Given the description of an element on the screen output the (x, y) to click on. 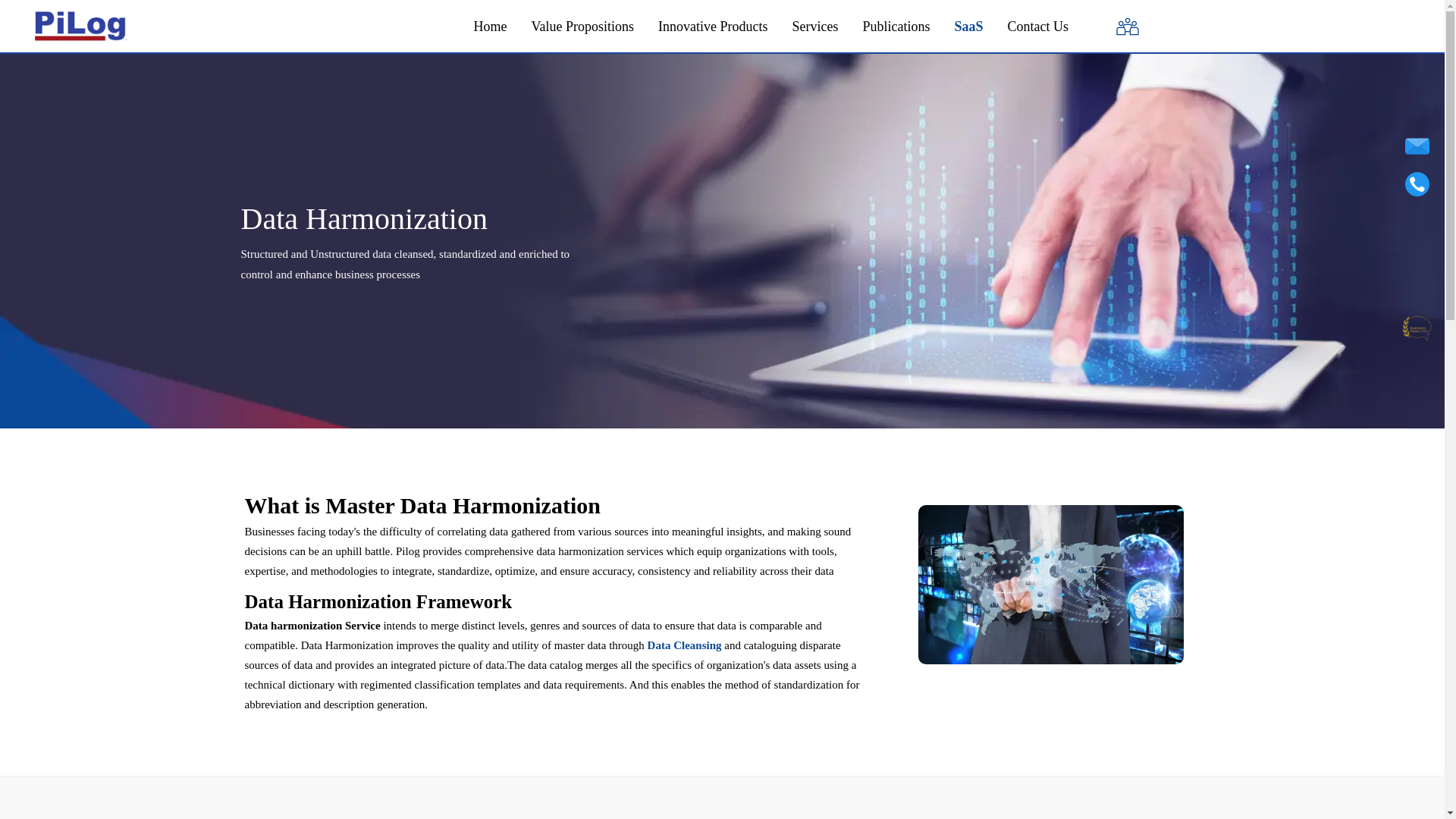
Services (815, 26)
Value Propositions (582, 26)
Innovative Products (712, 26)
